Given the description of an element on the screen output the (x, y) to click on. 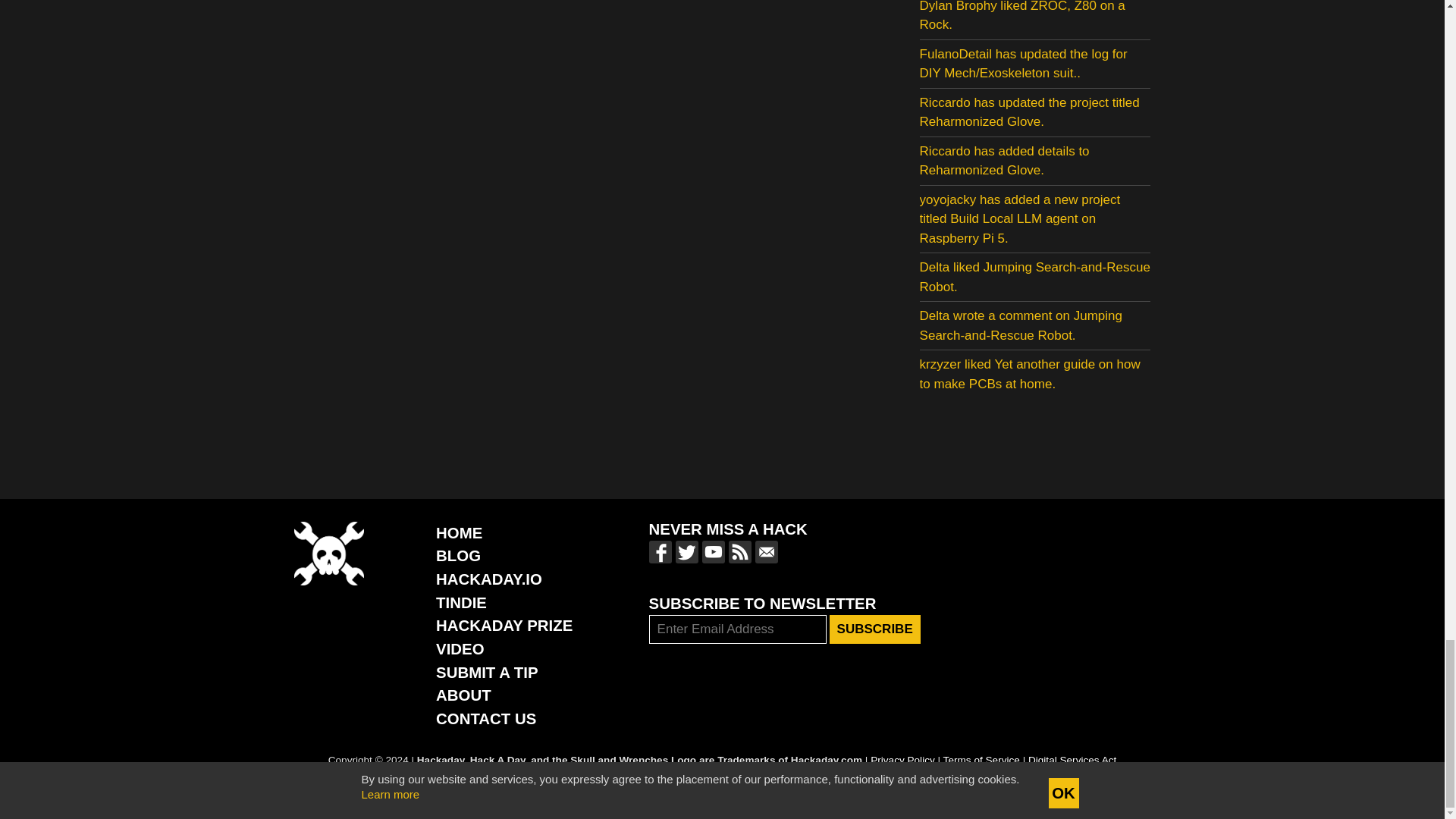
Subscribe (874, 629)
